Given the description of an element on the screen output the (x, y) to click on. 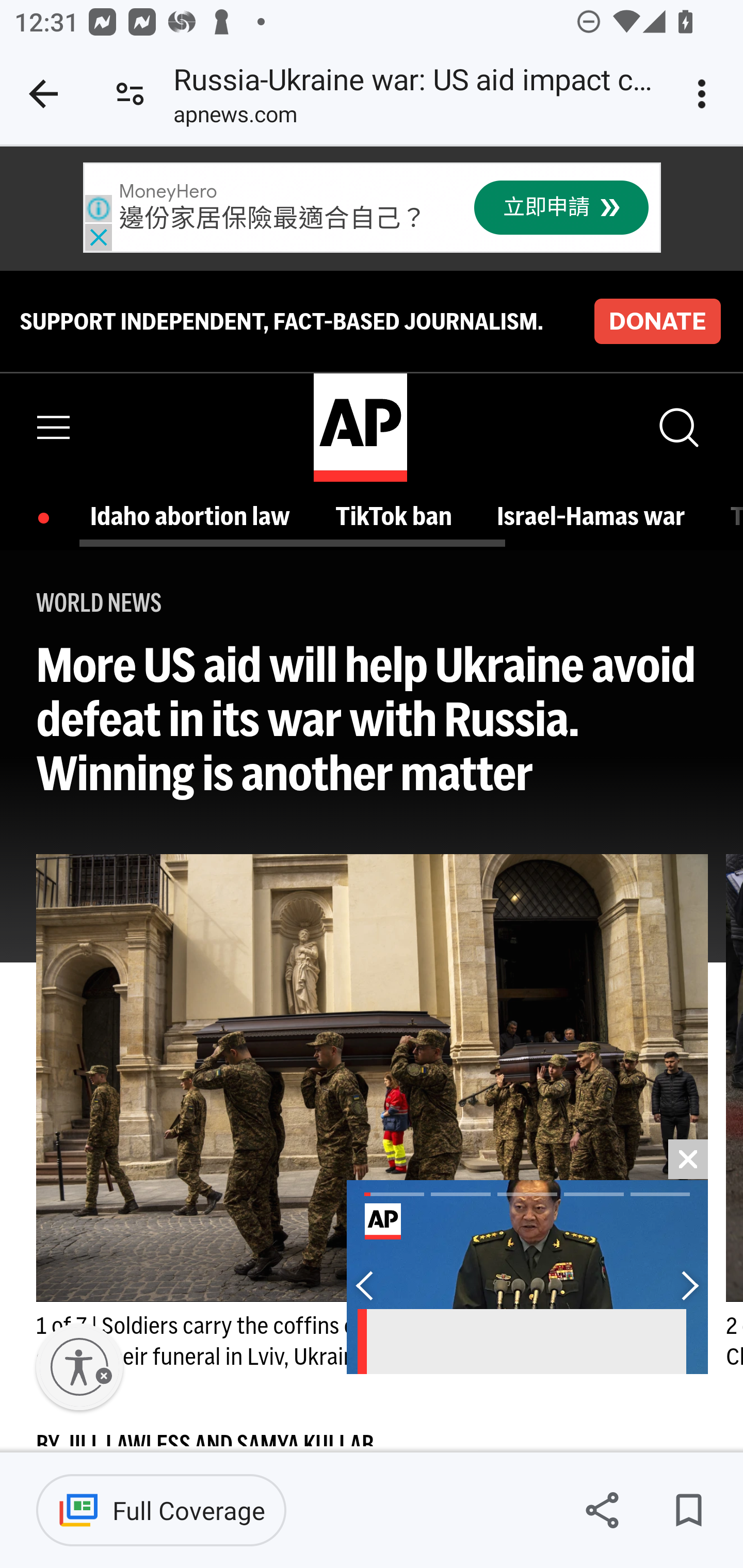
Close tab (43, 93)
Customize and control Google Chrome (705, 93)
Connection is secure (129, 93)
apnews.com (235, 117)
MoneyHero (167, 191)
立即申請 (561, 208)
邊份家居保險最適合自己？ (272, 219)
DONATE (657, 320)
home page AP Logo (359, 426)
Menu (54, 427)
Show Search (677, 427)
Idaho abortion law (194, 516)
TikTok ban (397, 516)
Israel-Hamas war (595, 516)
WORLD NEWS (99, 602)
Enable accessibility (79, 1367)
Full Coverage (161, 1509)
Share (601, 1510)
Save for later (688, 1510)
